Given the description of an element on the screen output the (x, y) to click on. 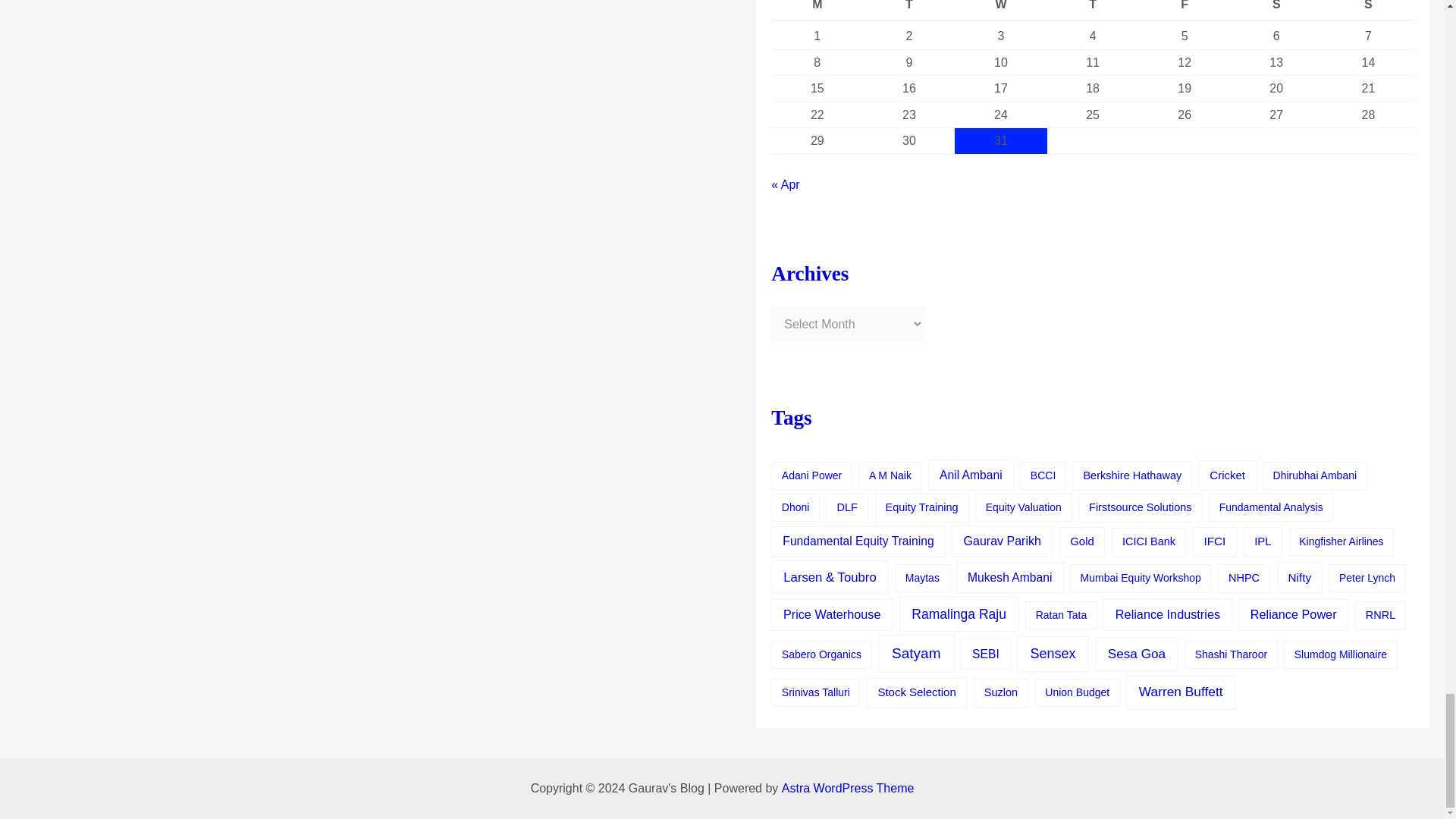
Sunday (1367, 10)
Saturday (1276, 10)
Monday (817, 10)
Friday (1184, 10)
Thursday (1092, 10)
Tuesday (909, 10)
Wednesday (1000, 10)
